Given the description of an element on the screen output the (x, y) to click on. 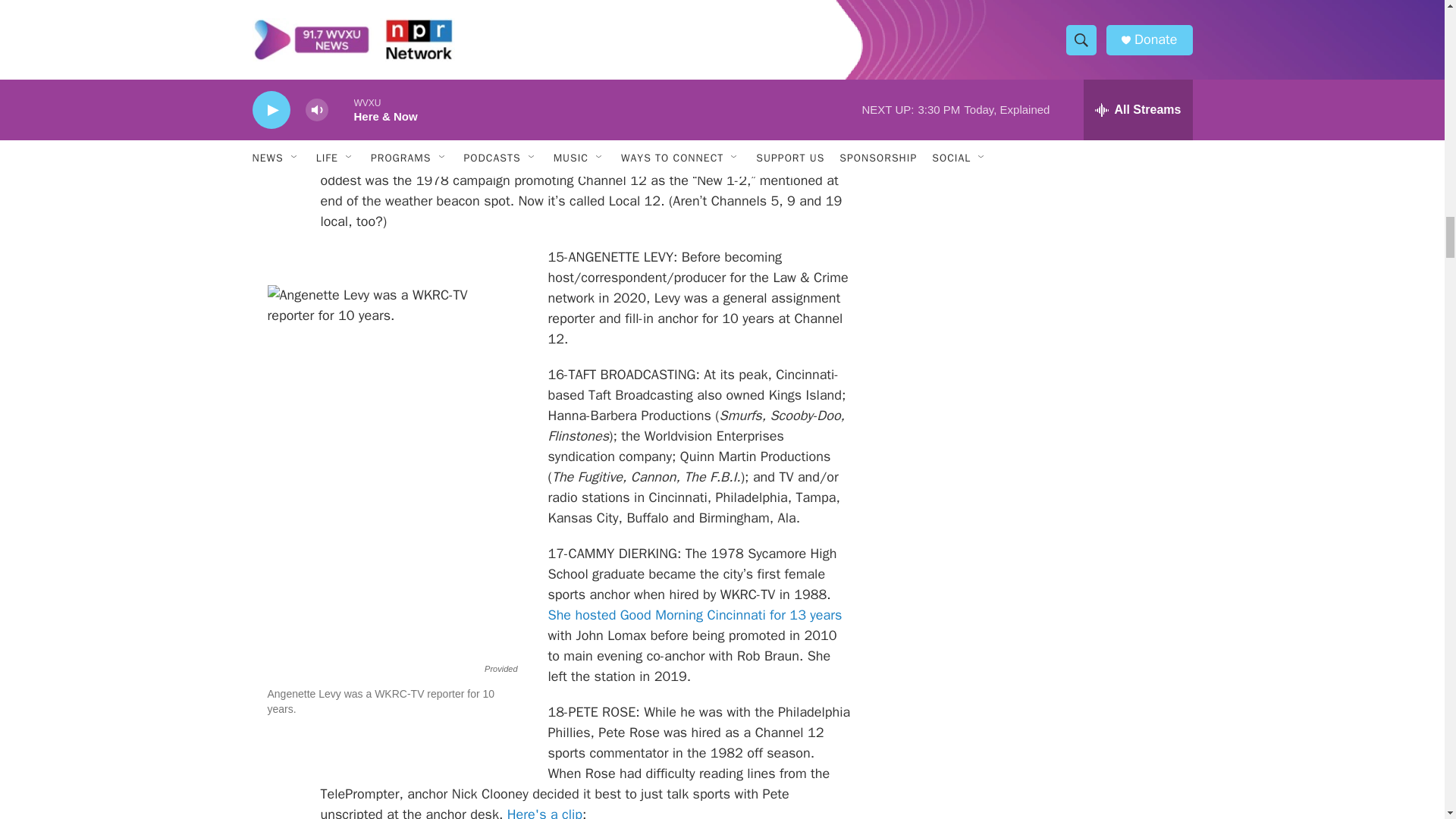
WKRC Weather Beacon 1987.wmv (585, 56)
